Given the description of an element on the screen output the (x, y) to click on. 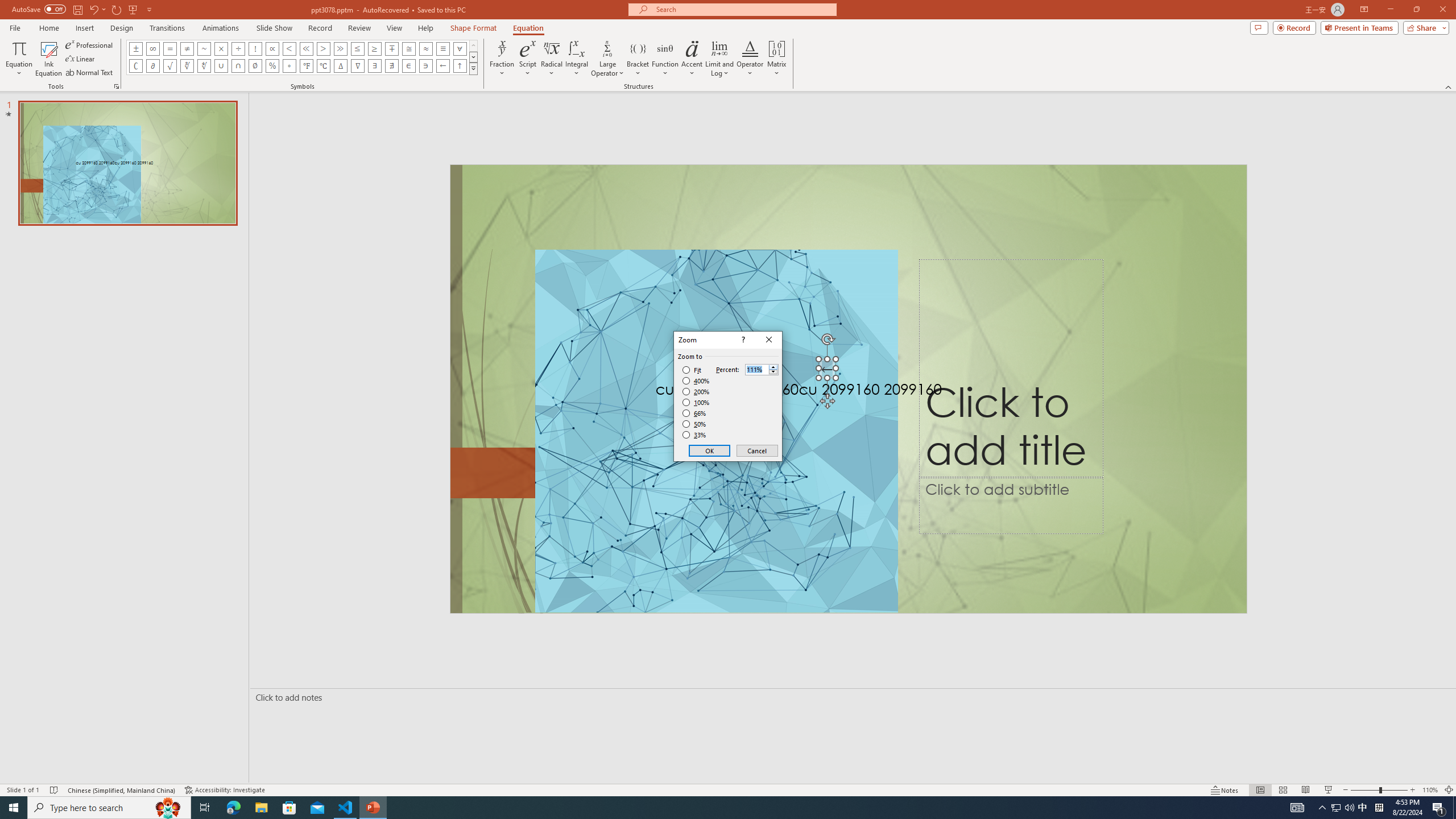
Equation Symbol Degrees (289, 65)
Equation Symbol Radical Sign (170, 65)
Professional (90, 44)
Percent (761, 369)
Percent (756, 369)
Equation Symbol Union (221, 65)
Equation Symbol Degrees Celsius (322, 65)
Equation Symbol Nabla (357, 65)
